Given the description of an element on the screen output the (x, y) to click on. 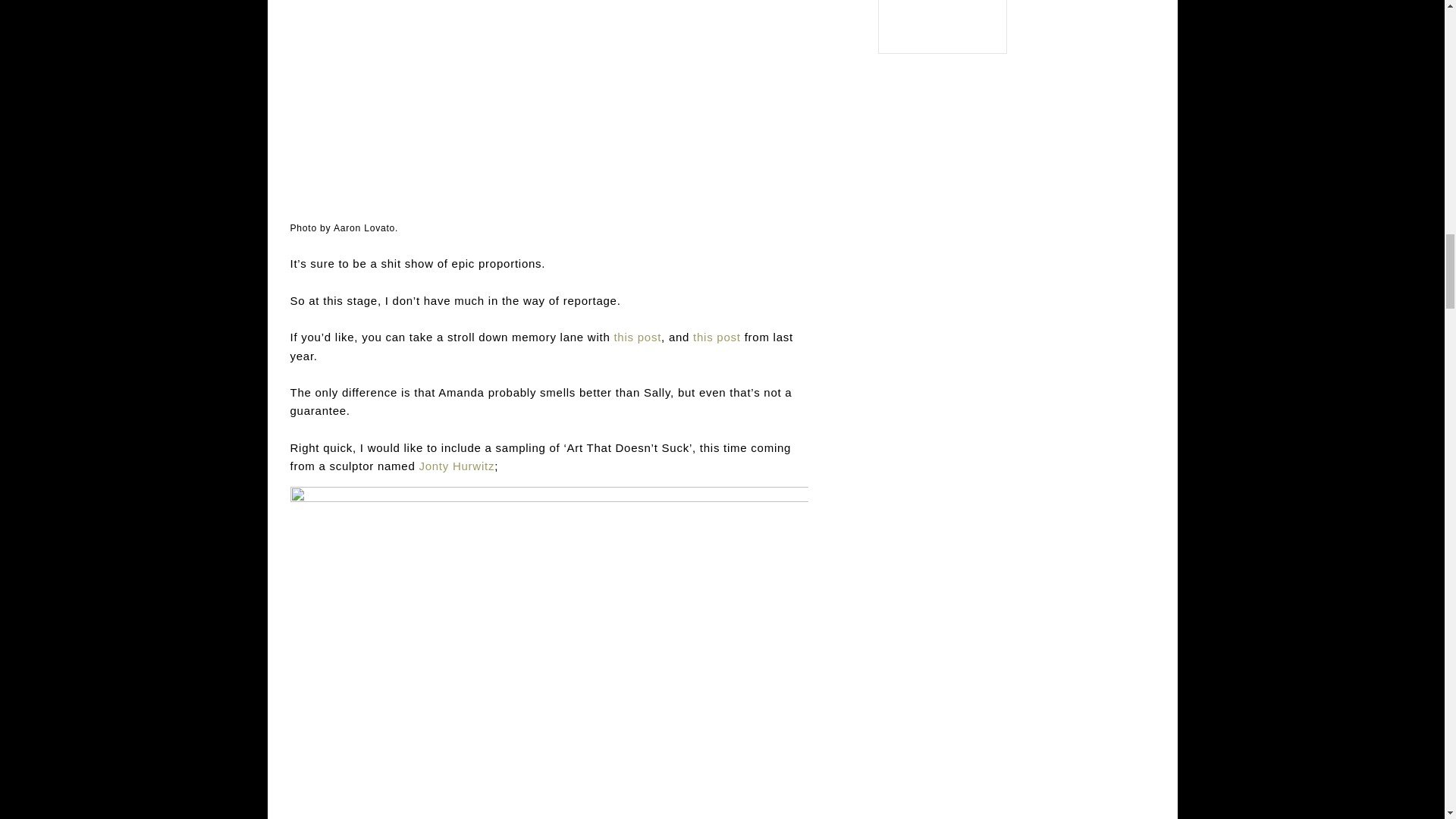
this post (717, 336)
Jonty Hurwitz (457, 465)
this post (636, 336)
